Given the description of an element on the screen output the (x, y) to click on. 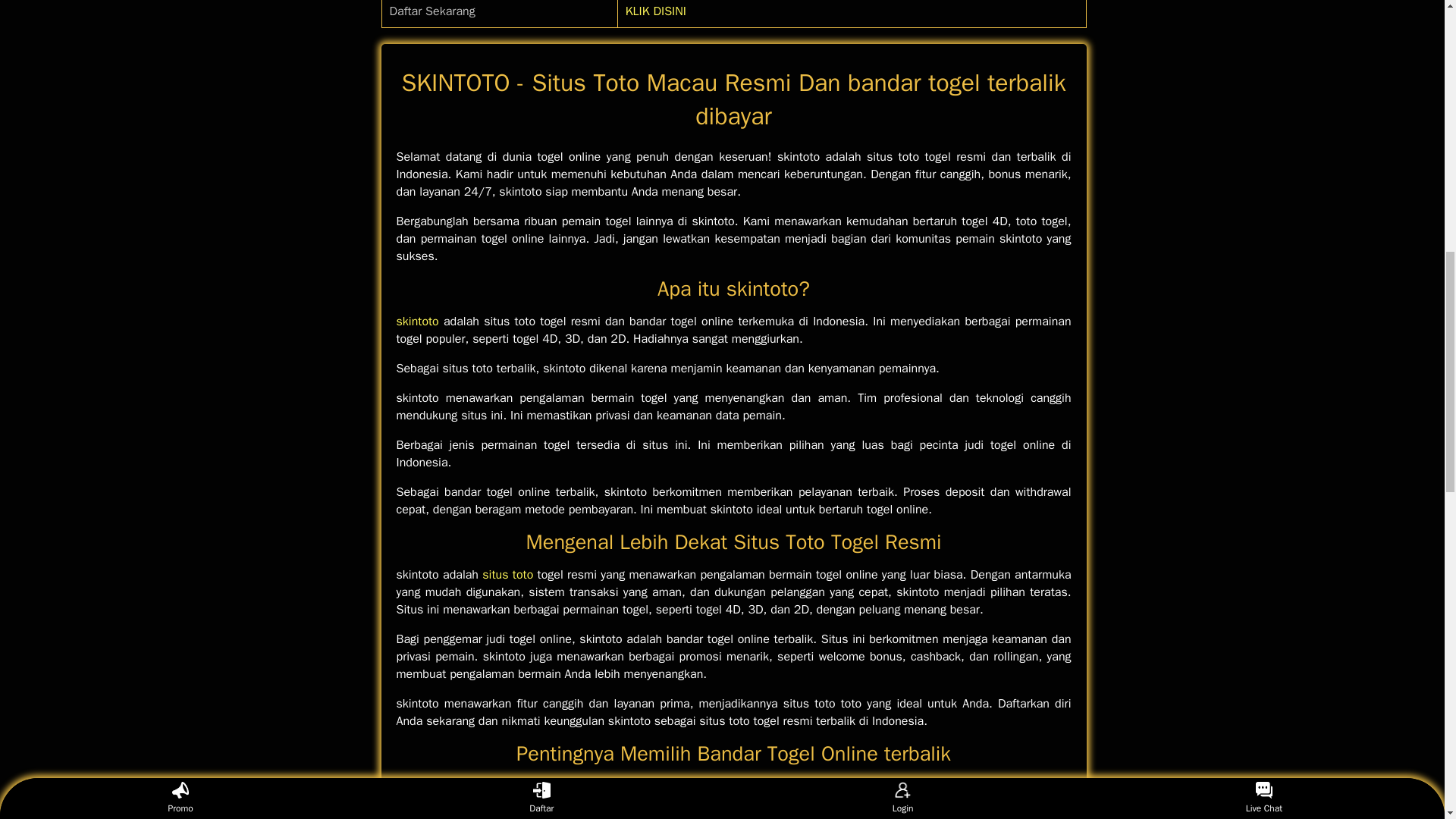
bandar togel online (532, 803)
skintoto (417, 321)
situs toto (506, 574)
bandar togel online (532, 803)
situs toto (506, 574)
skintoto (417, 321)
KLIK DISINI (655, 11)
